Given the description of an element on the screen output the (x, y) to click on. 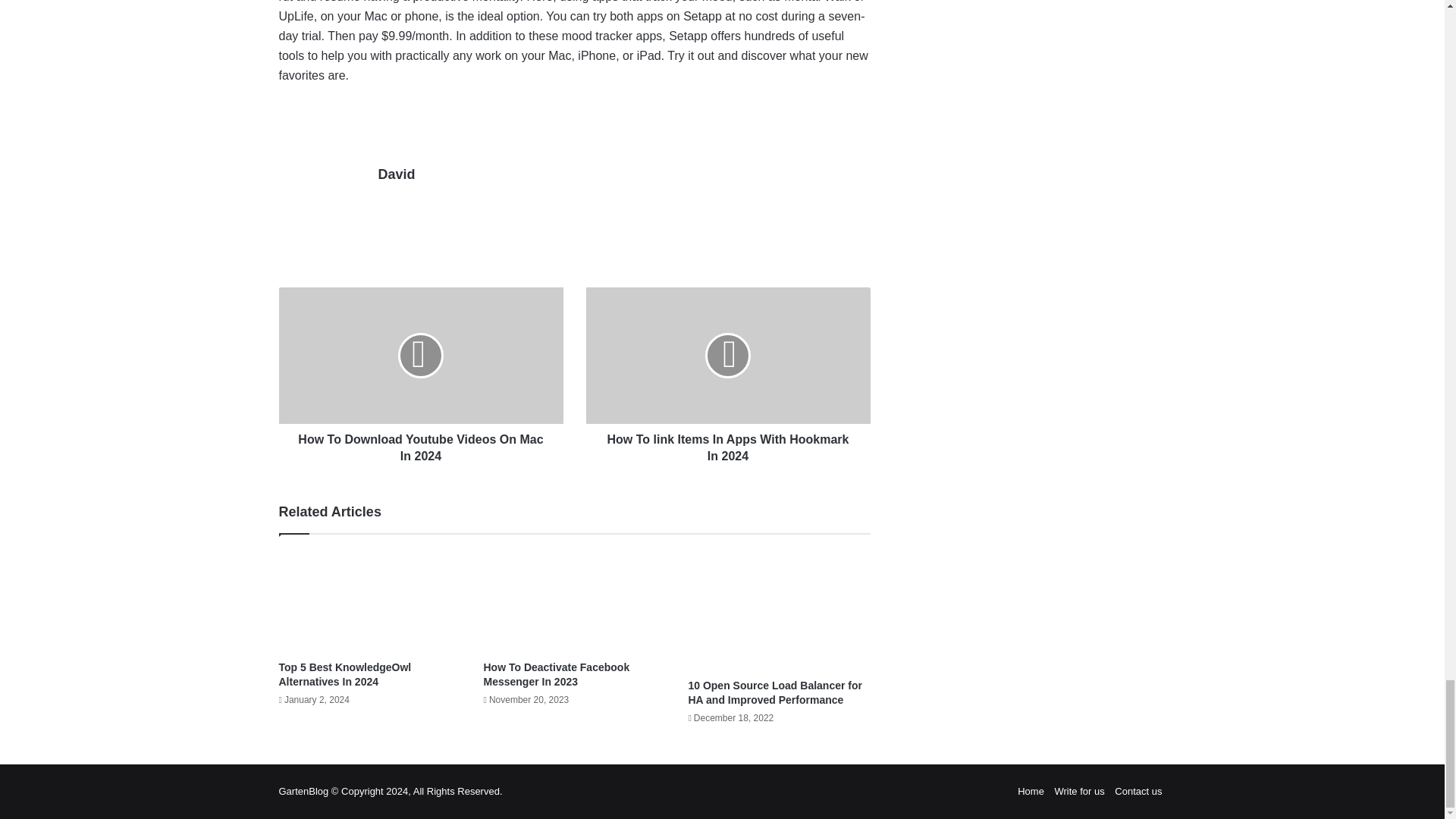
David (395, 174)
How To Download Youtube Videos On Mac In 2024 (421, 355)
How To Download Youtube Videos On Mac In 2024 (421, 444)
How To link Items In Apps With Hookmark In 2024 (727, 355)
